Given the description of an element on the screen output the (x, y) to click on. 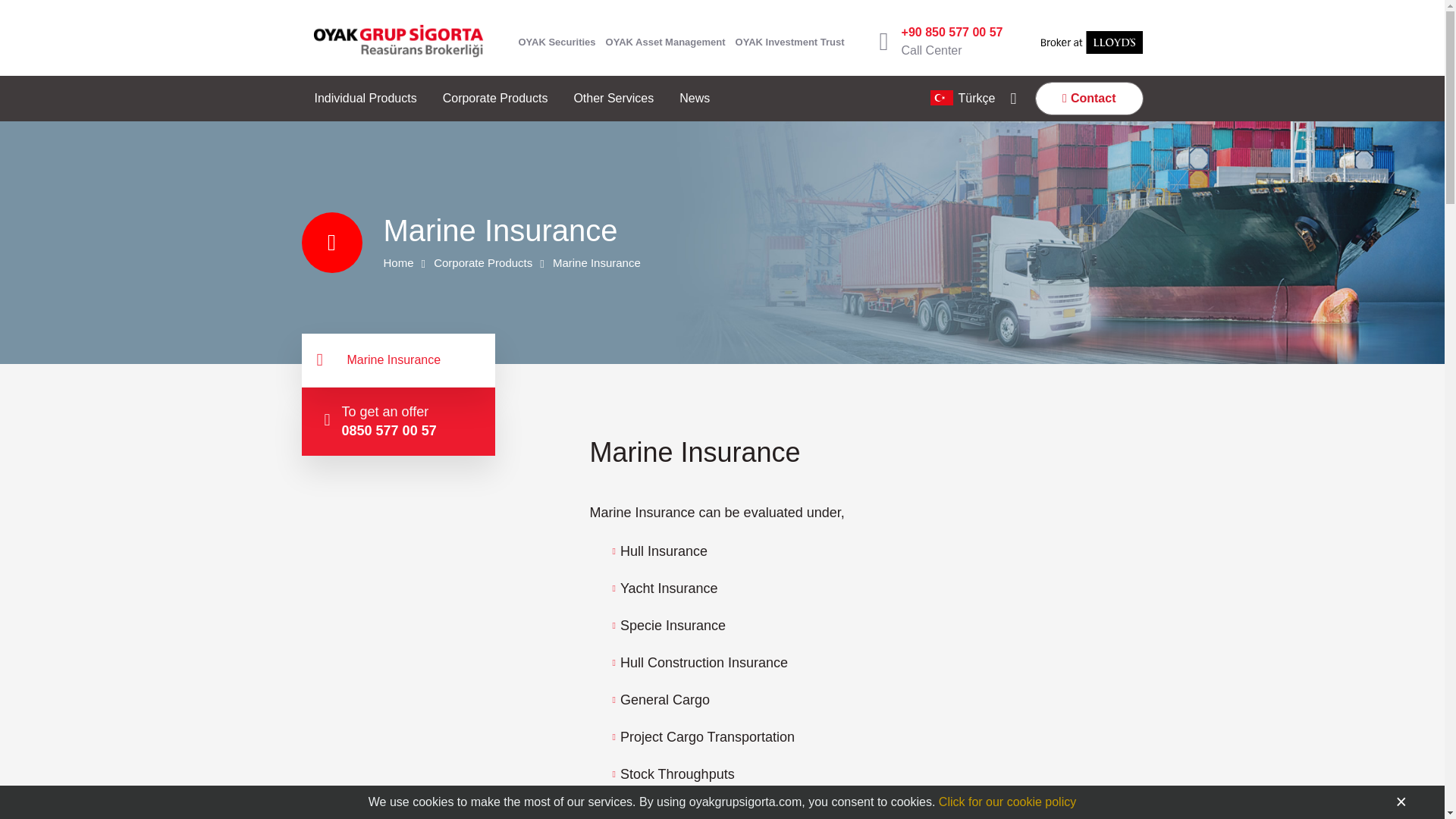
OYAK Asset Management (665, 41)
Individual Products (365, 98)
Corporate Products (495, 98)
OYAK Securities (556, 41)
OYAK Investment Trust (789, 41)
